Given the description of an element on the screen output the (x, y) to click on. 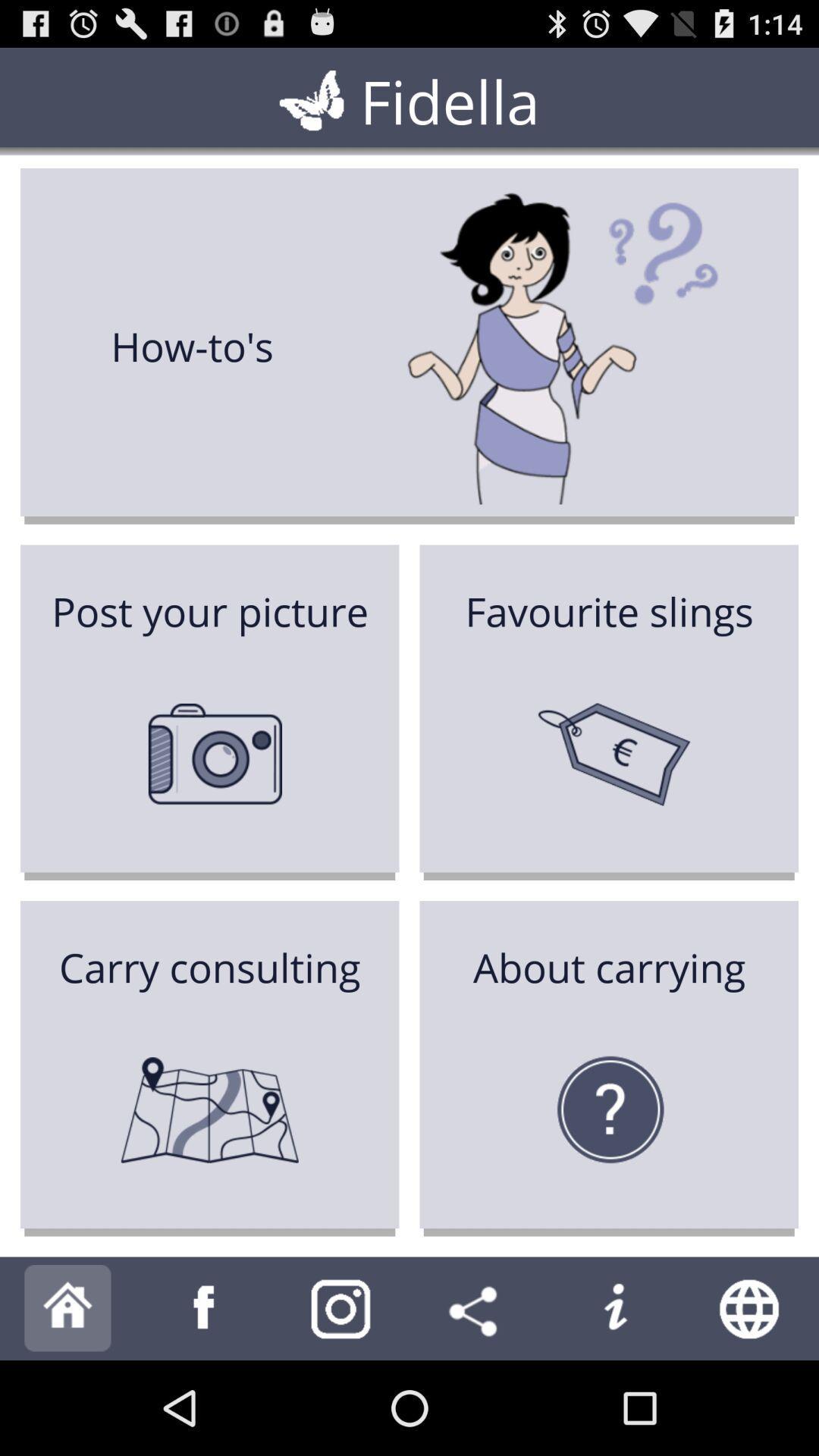
instagram (341, 1308)
